Given the description of an element on the screen output the (x, y) to click on. 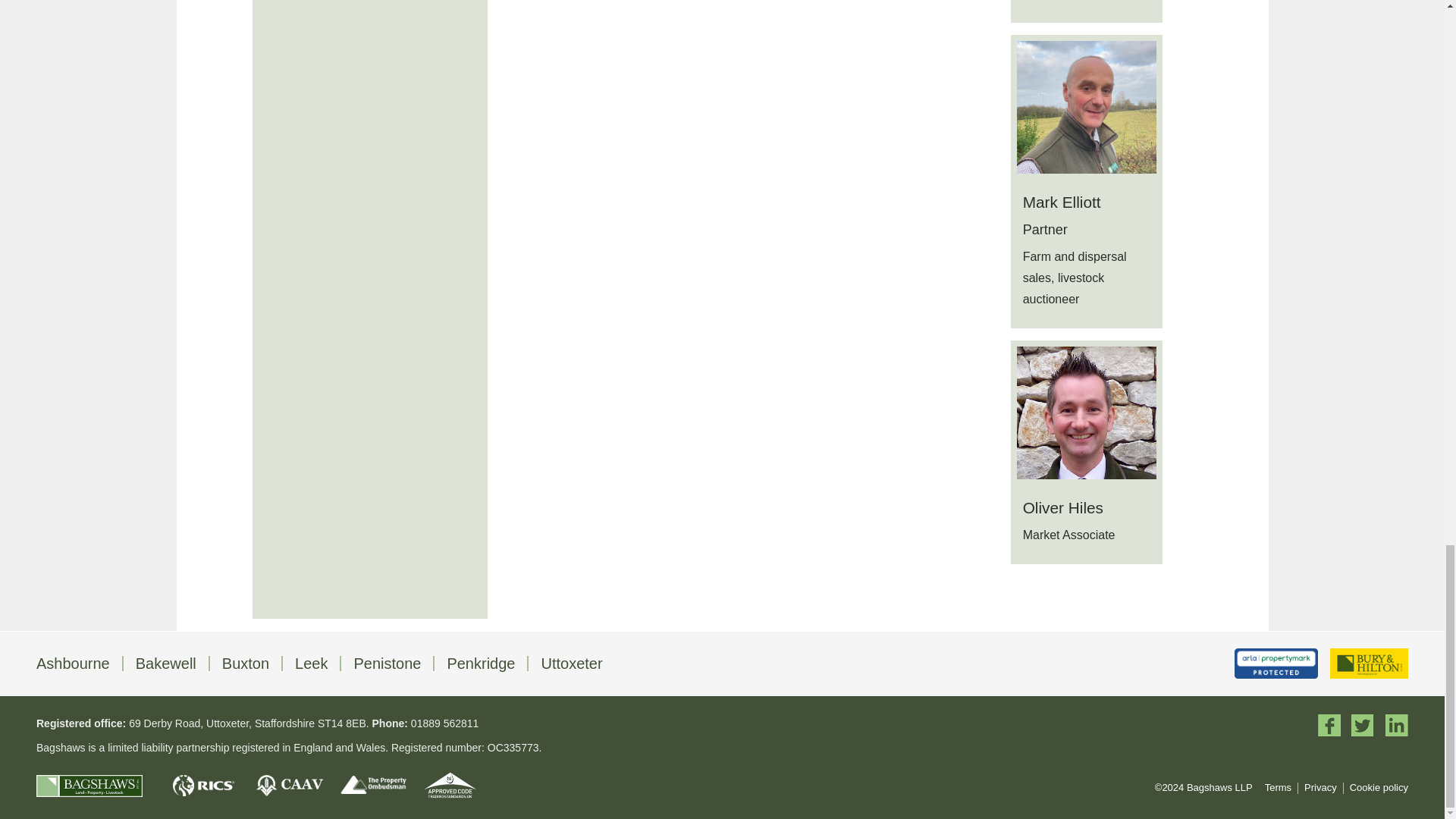
Bakewell (165, 663)
Penistone (386, 663)
Buxton (245, 663)
Leek (311, 663)
Penkridge (480, 663)
Ashbourne (73, 663)
